Given the description of an element on the screen output the (x, y) to click on. 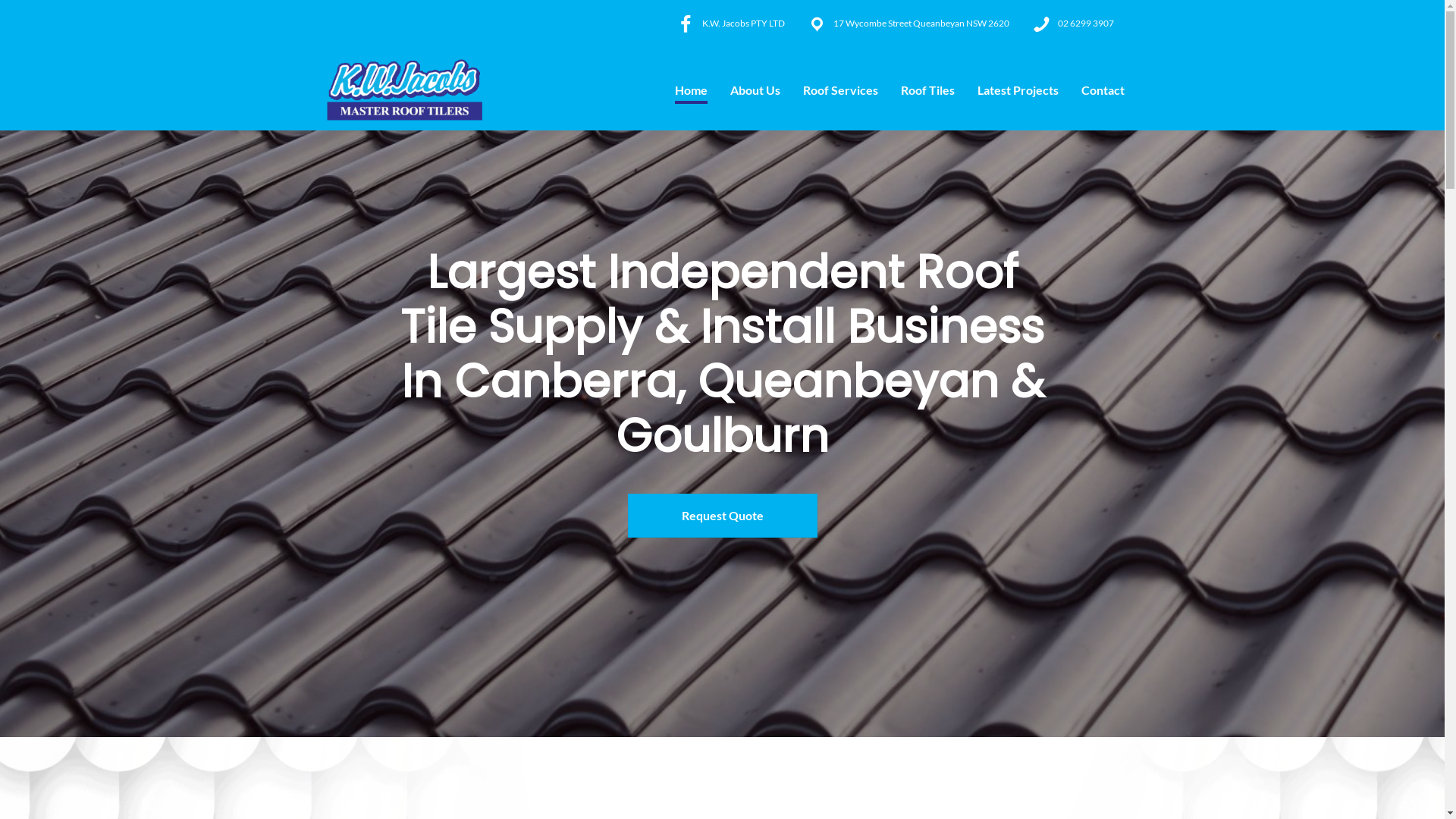
About Us Element type: text (754, 89)
Latest Projects Element type: text (1017, 89)
Roof Tiles Element type: text (927, 89)
Roof Services Element type: text (840, 89)
Home Element type: text (691, 89)
Request Quote Element type: text (722, 514)
Contact Element type: text (1102, 89)
